Given the description of an element on the screen output the (x, y) to click on. 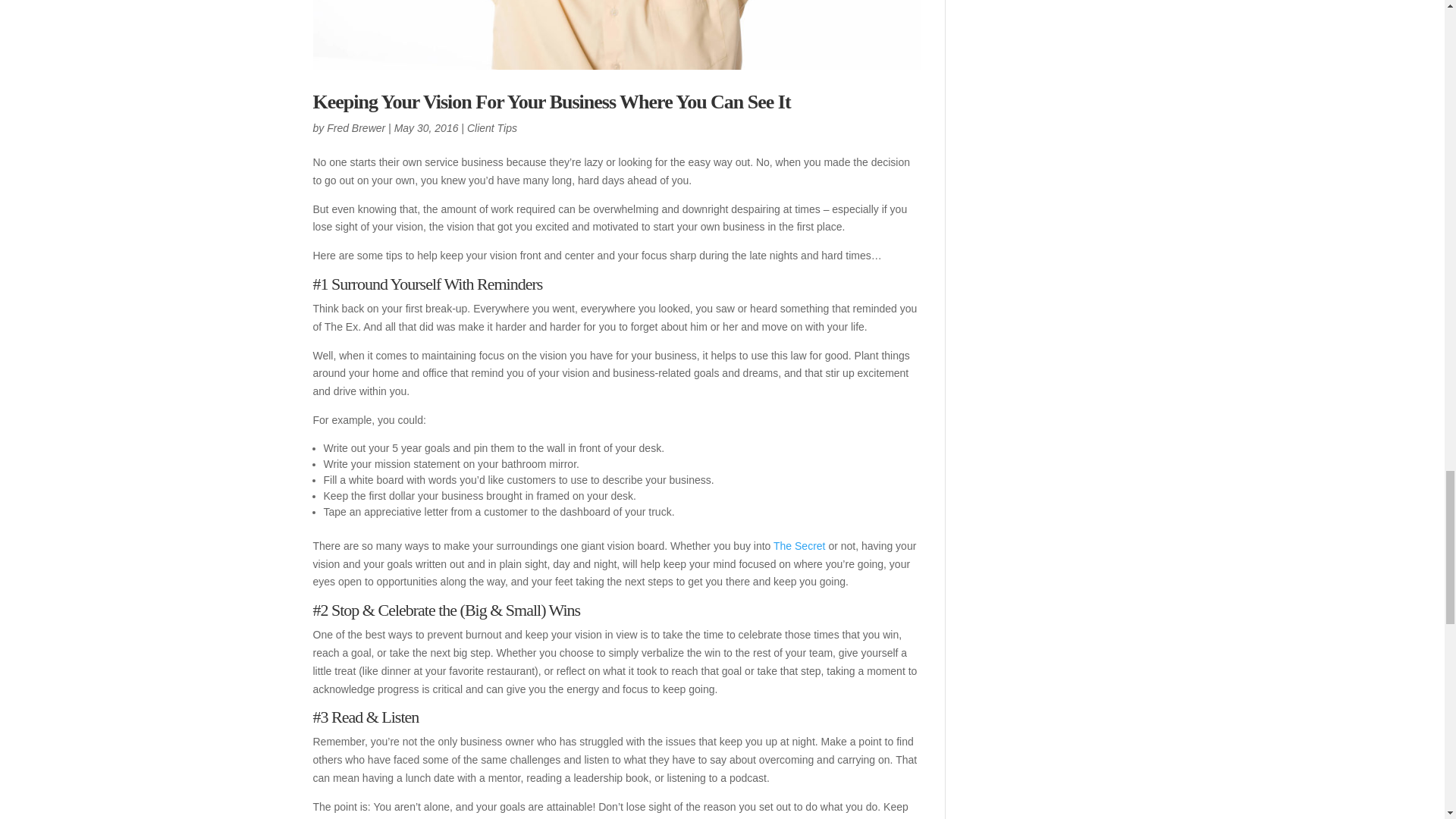
The Secret (799, 545)
Fred Brewer (355, 128)
Client Tips (491, 128)
Posts by Fred Brewer (355, 128)
Keeping Your Vision For Your Business Where You Can See It (551, 101)
